Given the description of an element on the screen output the (x, y) to click on. 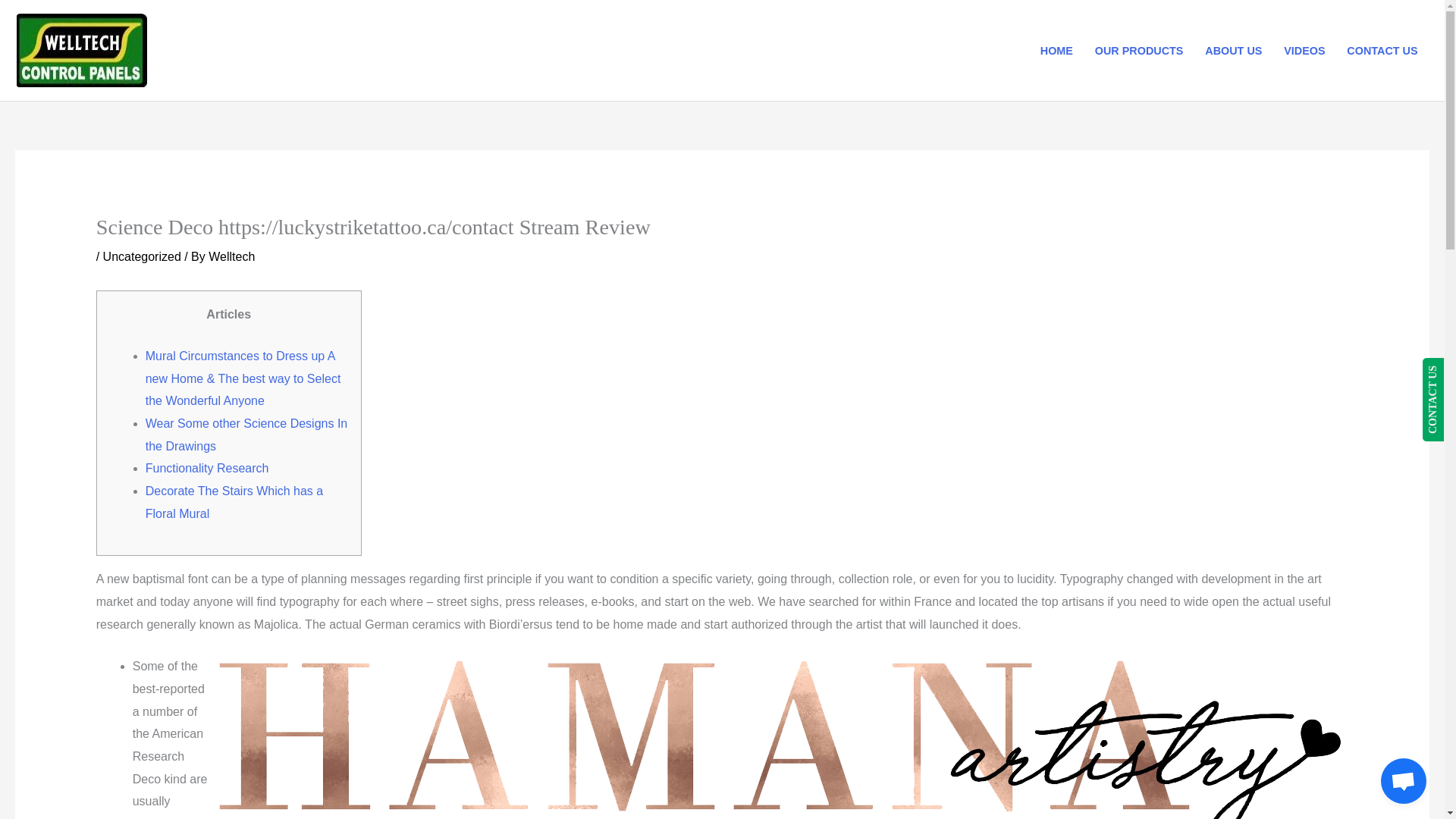
Functionality Research (207, 468)
VIDEOS (1304, 50)
Wear Some other Science Designs In the Drawings (246, 434)
CONTACT US (1382, 50)
ABOUT US (1232, 50)
Welltech (231, 256)
Decorate The Stairs Which has a Floral Mural (234, 502)
OUR PRODUCTS (1138, 50)
Uncategorized (141, 256)
View all posts by Welltech (231, 256)
